Given the description of an element on the screen output the (x, y) to click on. 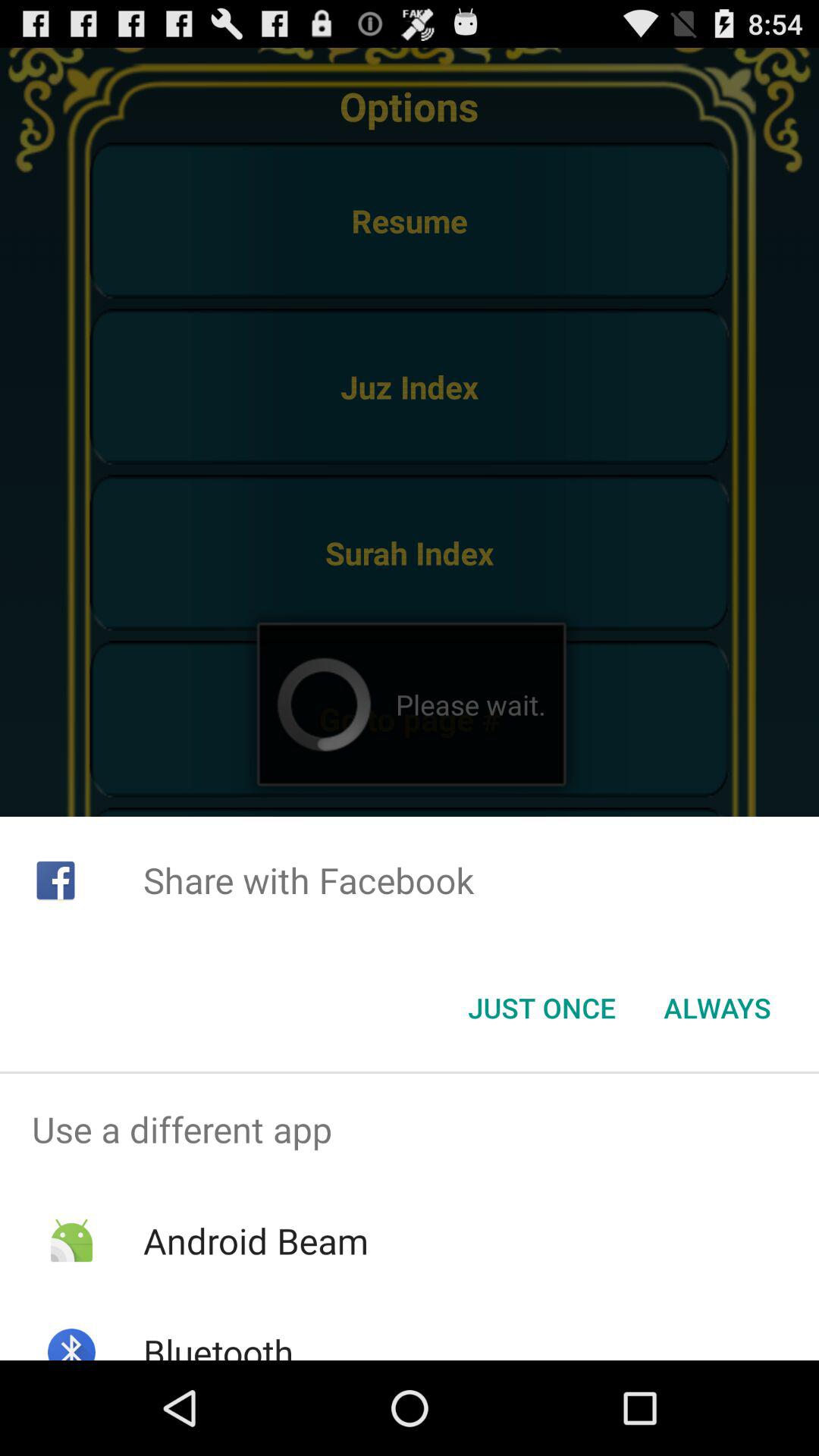
select icon below the share with facebook (541, 1007)
